Given the description of an element on the screen output the (x, y) to click on. 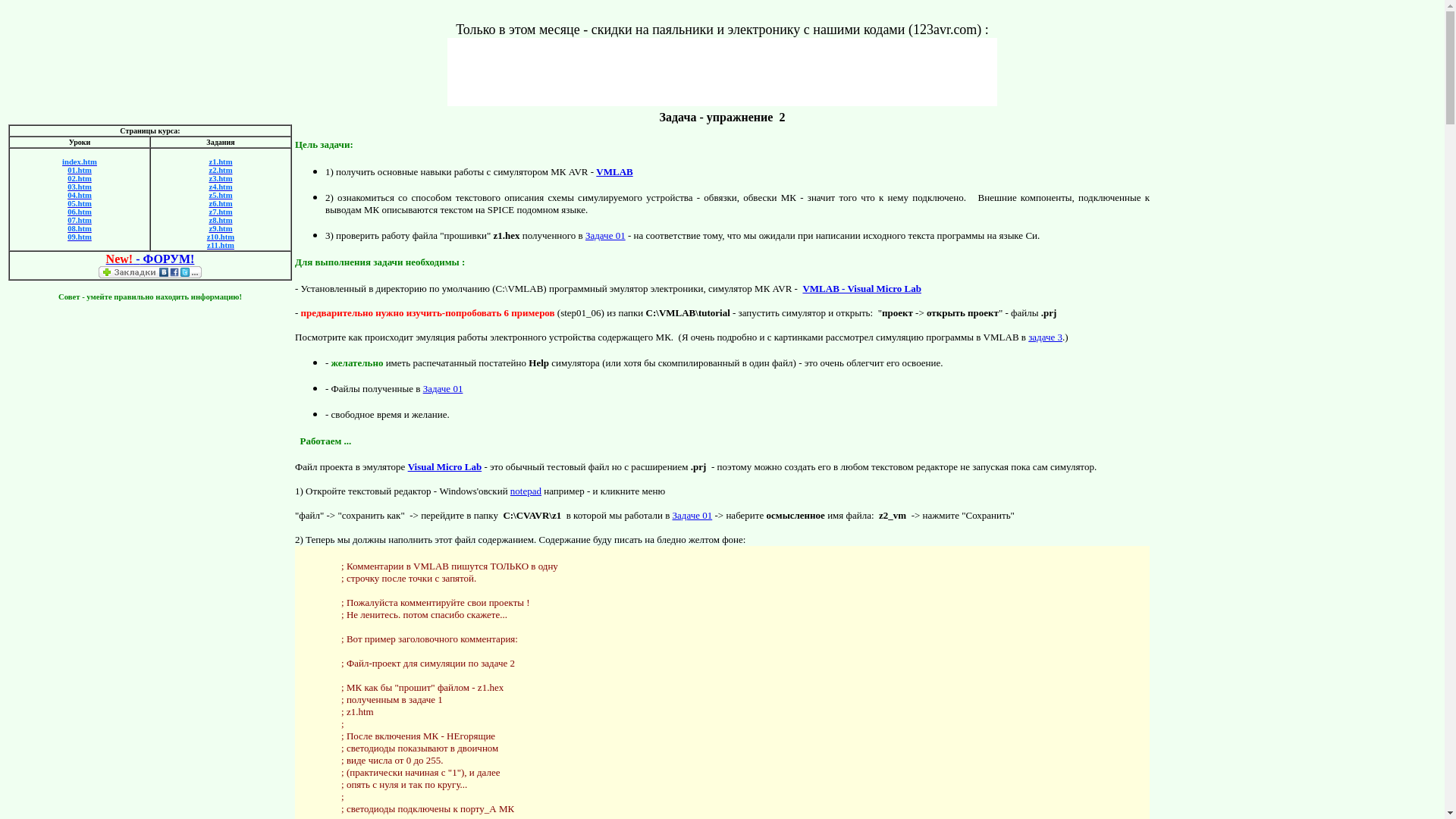
Advertisement Element type: hover (1216, 337)
05.htm Element type: text (79, 203)
Advertisement Element type: hover (149, 553)
06.htm Element type: text (79, 211)
z5.htm Element type: text (220, 195)
z11.htm Element type: text (220, 245)
z2.htm Element type: text (220, 170)
03.htm Element type: text (79, 186)
09.htm Element type: text (79, 236)
z10.htm Element type: text (220, 236)
z3.htm Element type: text (220, 178)
02.htm Element type: text (79, 178)
z6.htm Element type: text (220, 203)
index.htm Element type: text (79, 161)
notepad Element type: text (525, 490)
VMLAB - Visual Micro Lab Element type: text (861, 288)
z4.htm Element type: text (220, 186)
z1.htm Element type: text (220, 161)
01.htm Element type: text (79, 170)
VMLAB Element type: text (614, 171)
z7.htm Element type: text (220, 211)
z8.htm Element type: text (220, 220)
07.htm Element type: text (79, 220)
08.htm Element type: text (79, 228)
Visual Micro Lab Element type: text (444, 466)
z9.htm Element type: text (220, 228)
04.htm Element type: text (79, 195)
